Given the description of an element on the screen output the (x, y) to click on. 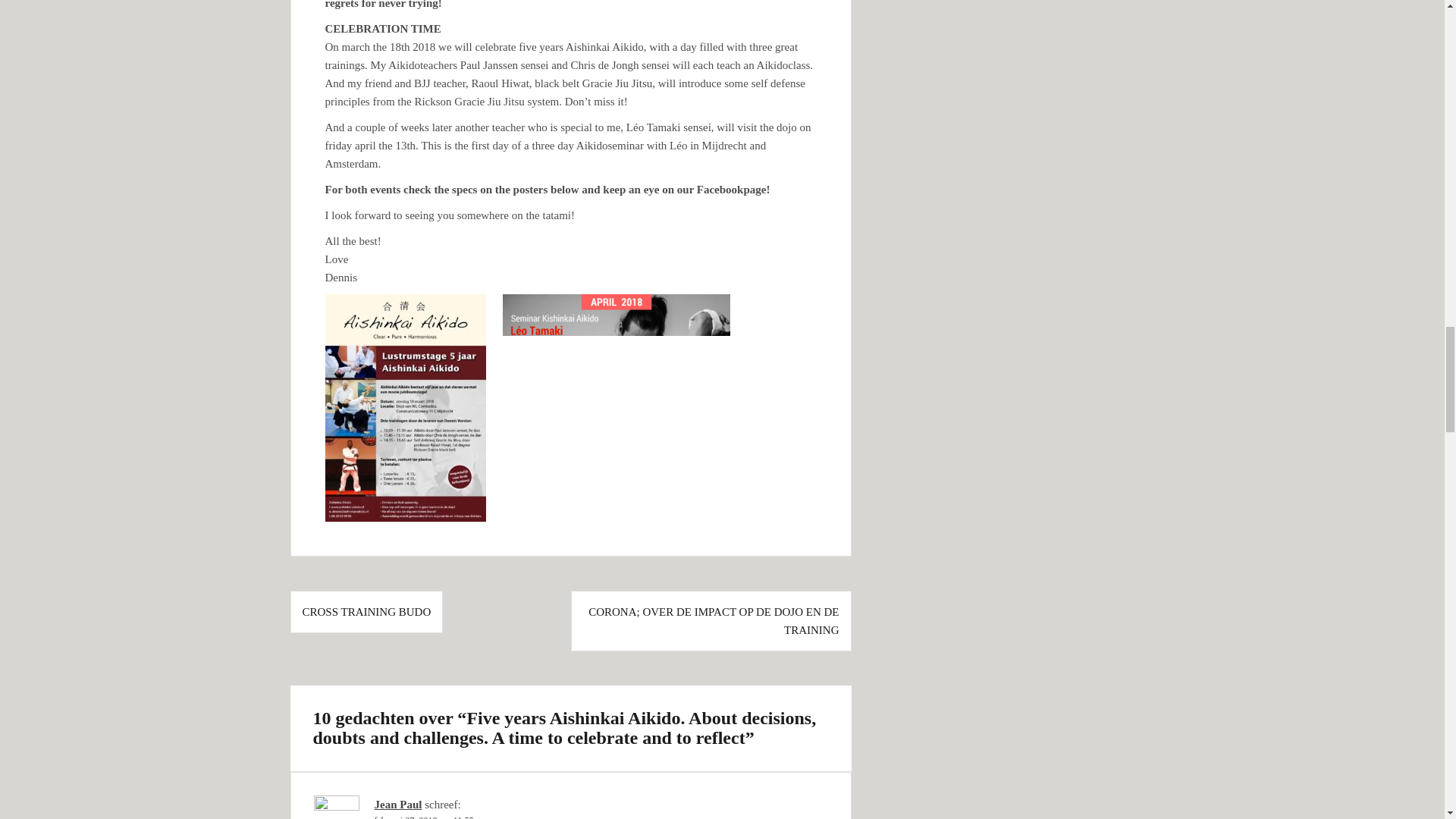
CORONA; OVER DE IMPACT OP DE DOJO EN DE TRAINING (713, 621)
Jean Paul (398, 804)
CROSS TRAINING BUDO (365, 612)
februari 27, 2018 om 11:55 am (430, 816)
